Given the description of an element on the screen output the (x, y) to click on. 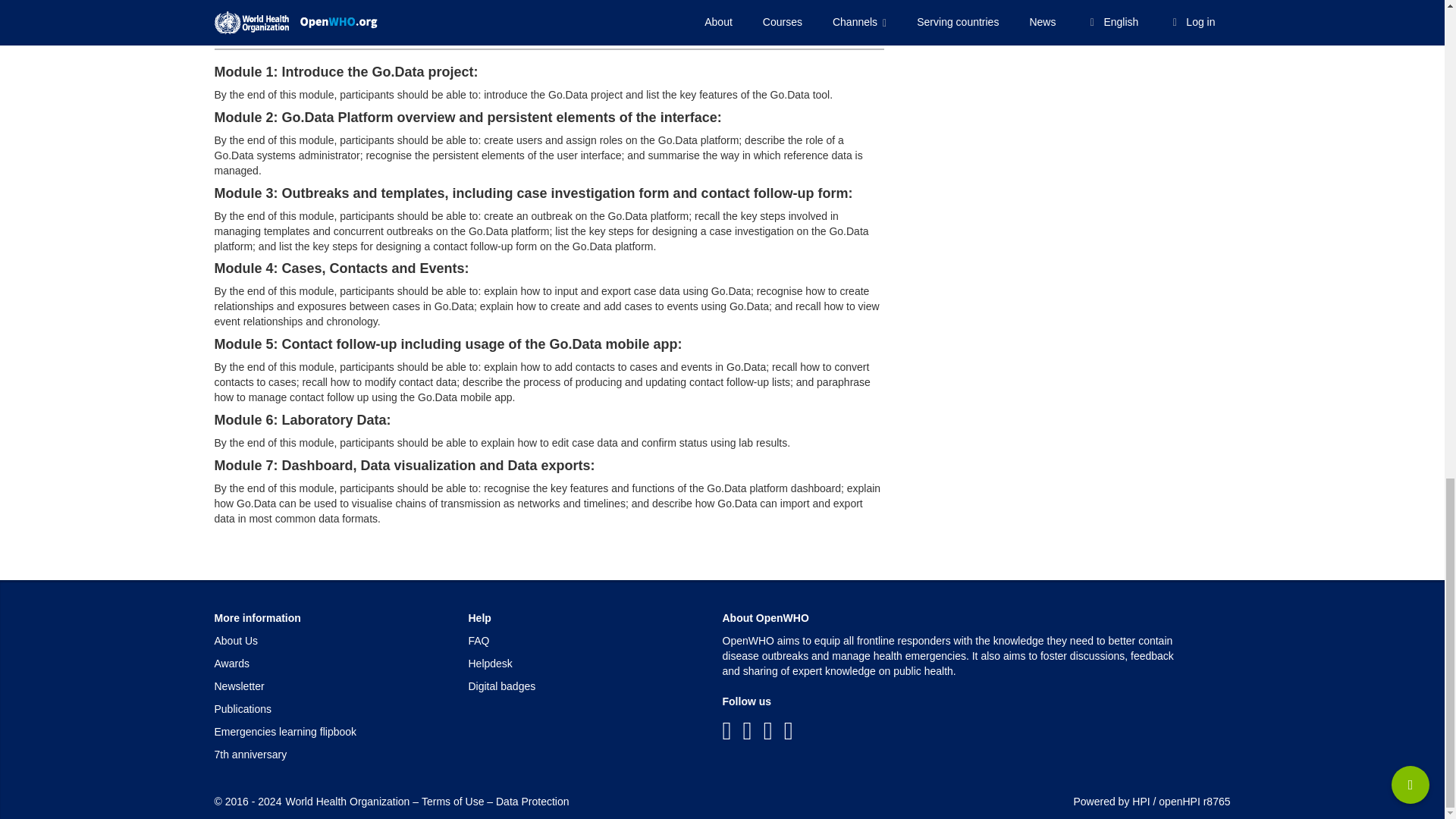
Data Protection (532, 801)
Emergencies learning flipbook (285, 731)
Terms of Use (452, 801)
Instagram (788, 731)
FAQ (478, 640)
About Us (235, 640)
7th anniversary (250, 754)
Newsletter (238, 686)
YouTube (767, 731)
Awards (231, 663)
Helpdesk (490, 663)
Digital badges (501, 686)
World Health Organization (347, 801)
X, formerly Twitter (747, 731)
Publications (242, 708)
